Given the description of an element on the screen output the (x, y) to click on. 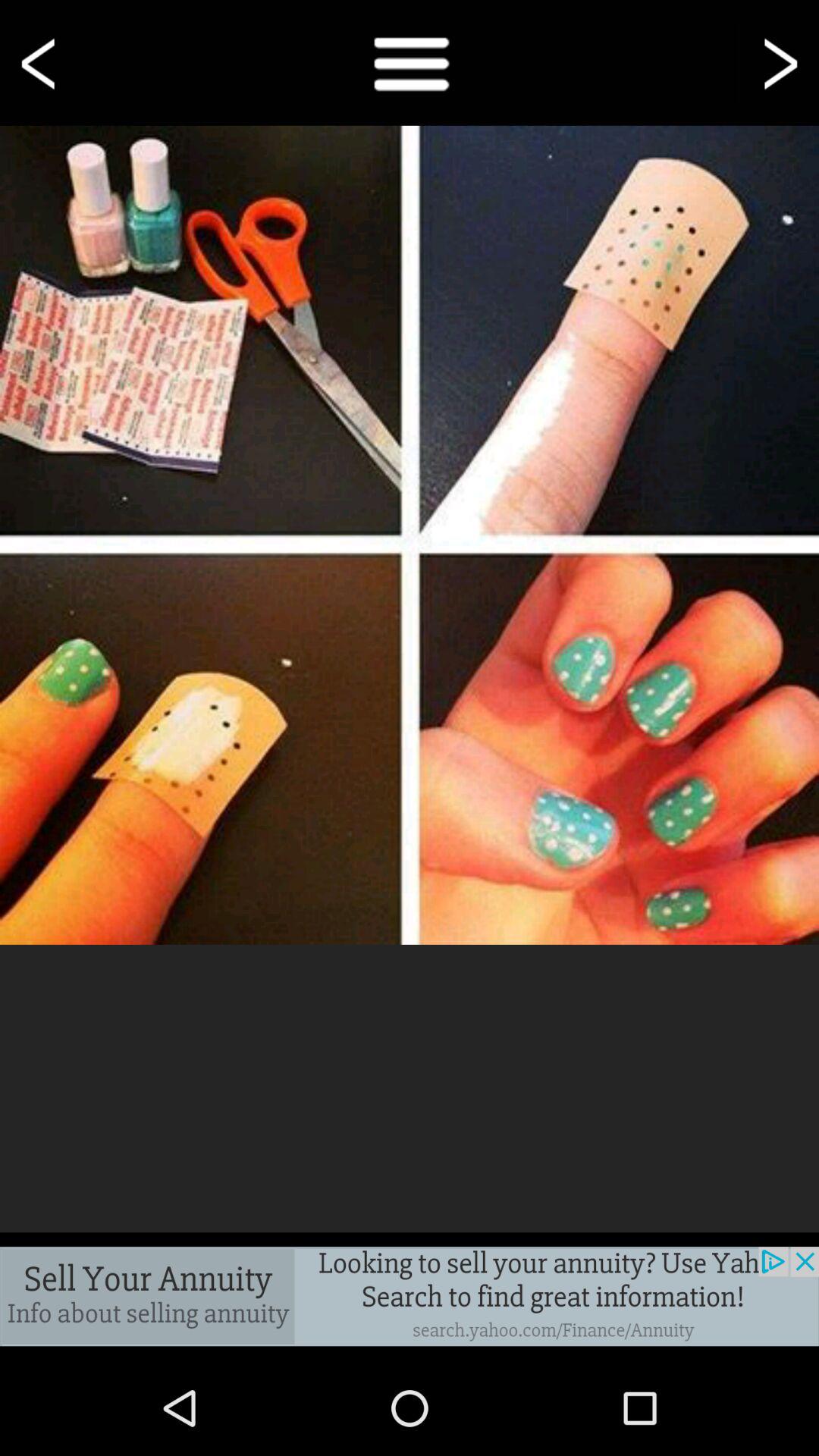
see notes (409, 62)
